Given the description of an element on the screen output the (x, y) to click on. 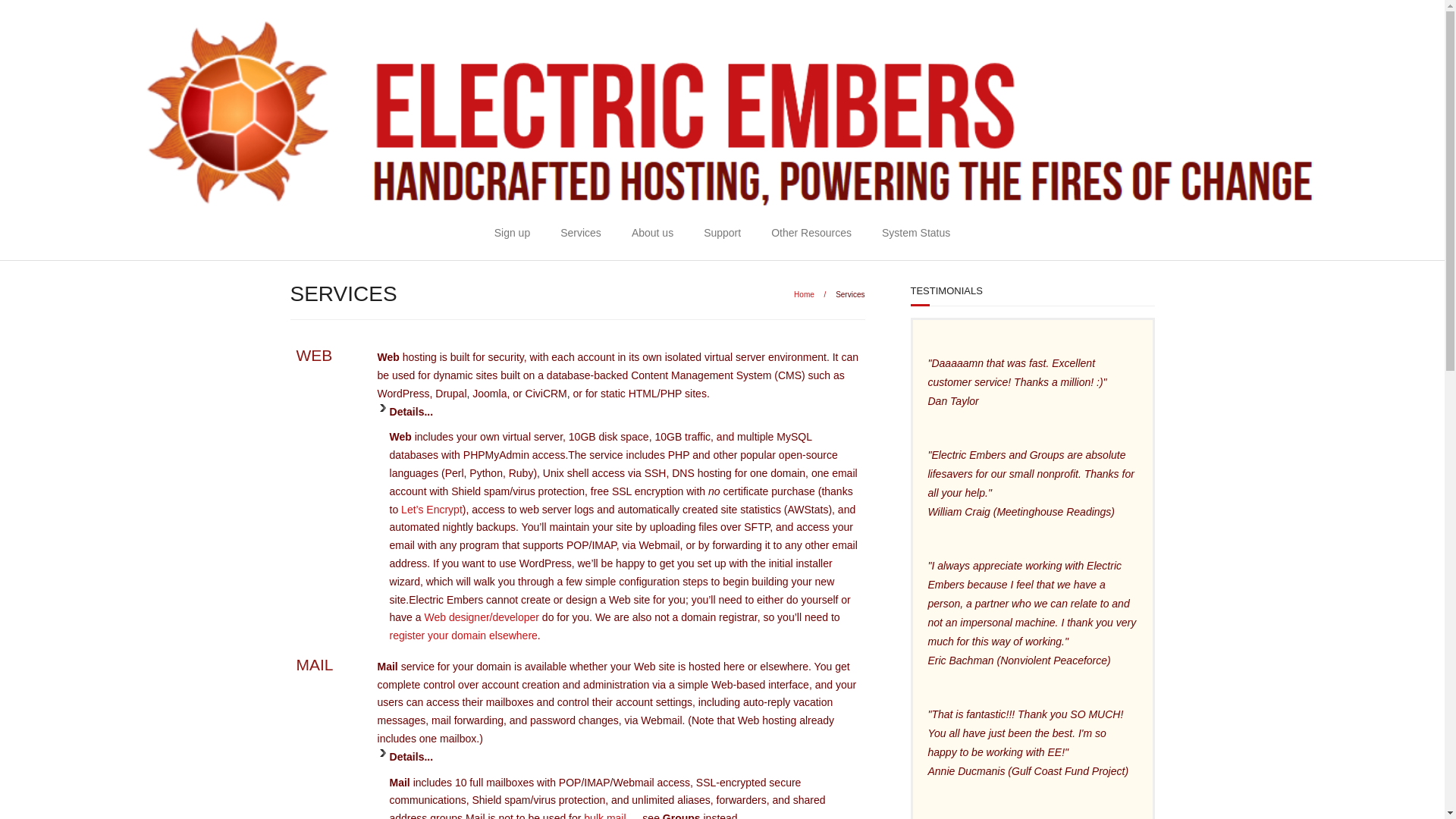
Support (721, 233)
Details... (618, 416)
System Status (915, 233)
Sign up (511, 233)
Services (579, 233)
Details... (618, 760)
Other Resources (810, 233)
About us (651, 233)
